Given the description of an element on the screen output the (x, y) to click on. 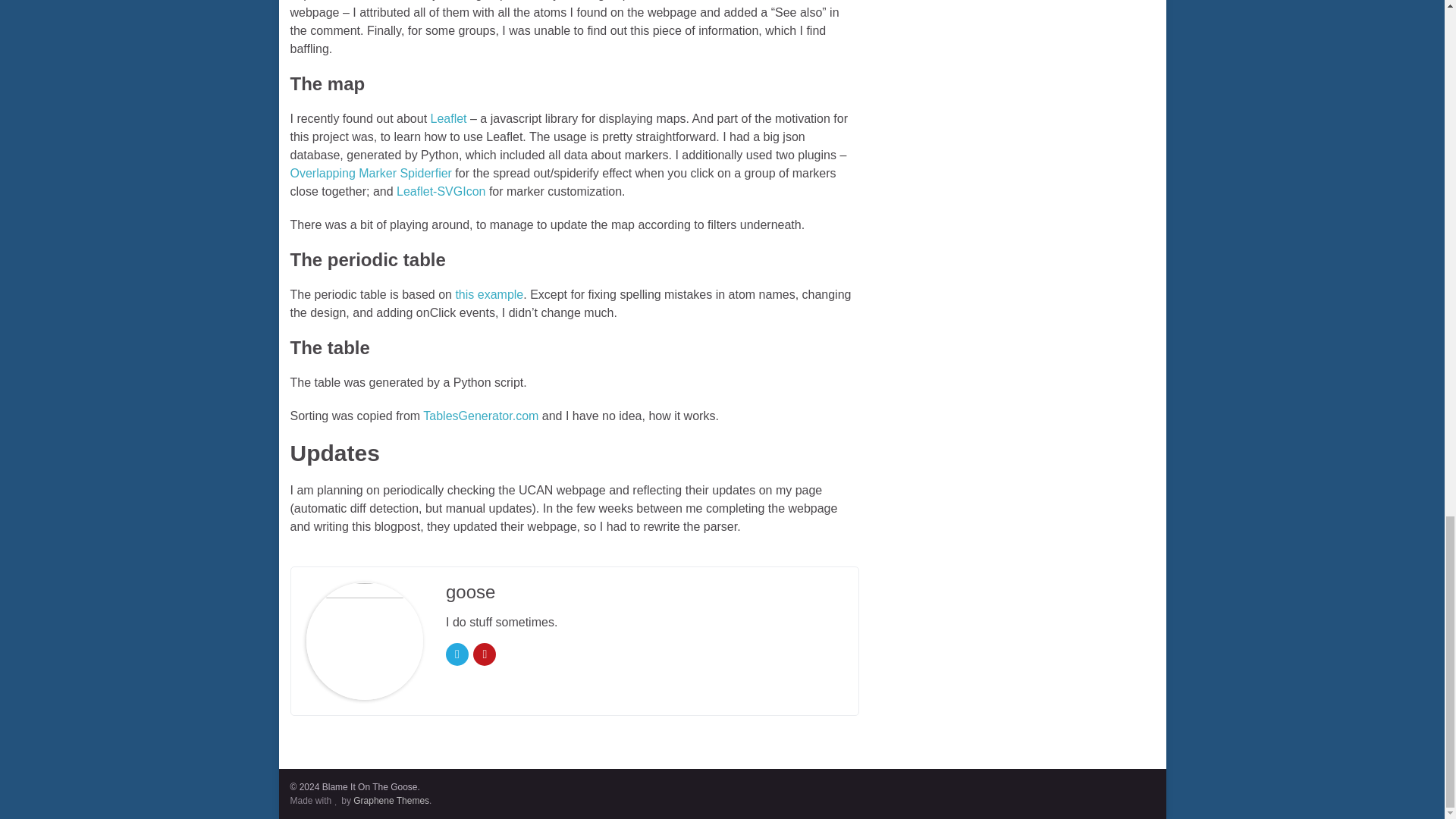
Leaflet (448, 118)
Overlapping Marker Spiderfier (370, 173)
TablesGenerator.com (480, 415)
Leaflet-SVGIcon (440, 191)
this example (488, 294)
